Given the description of an element on the screen output the (x, y) to click on. 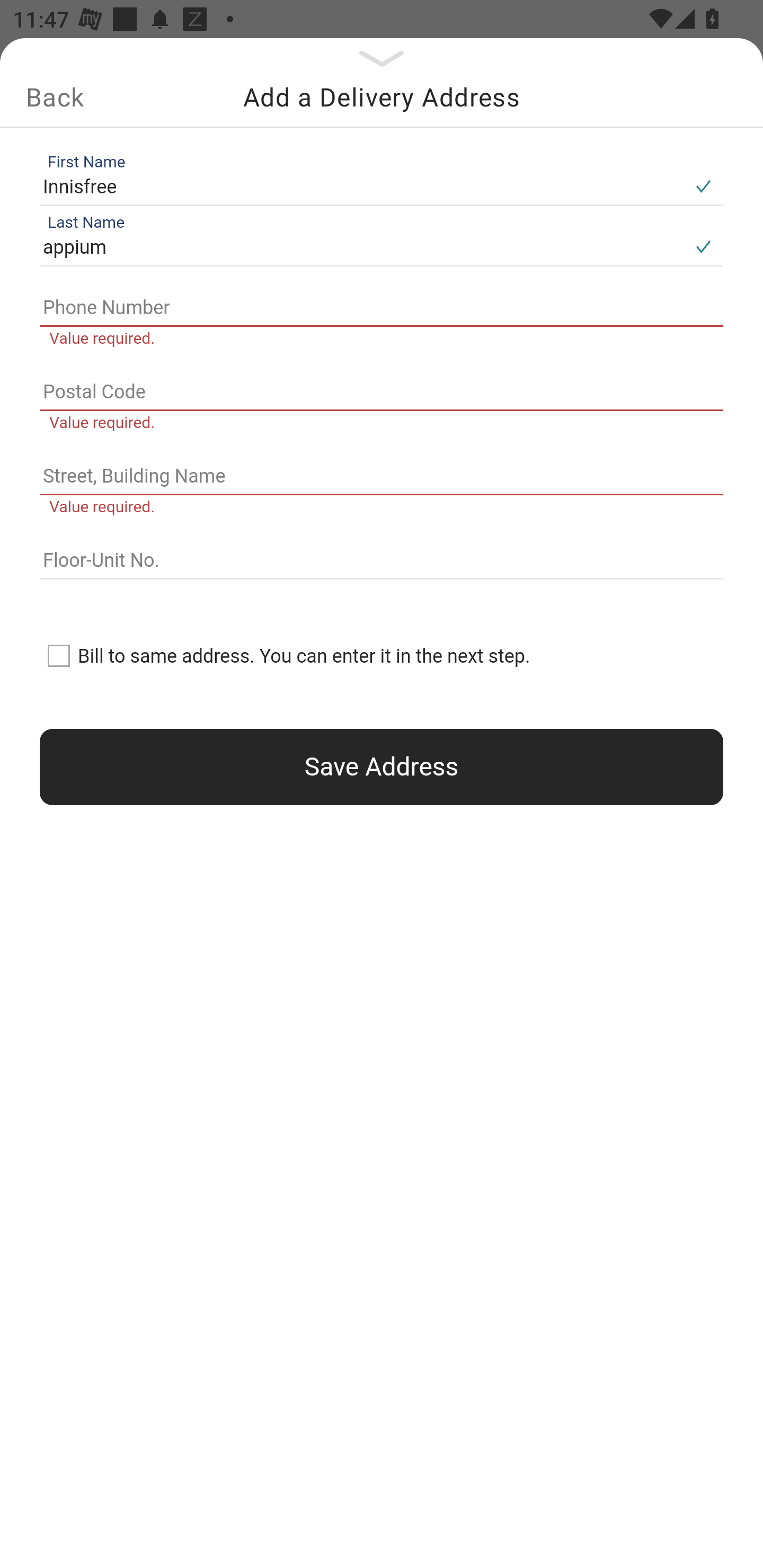
Back (54, 96)
Add a Delivery Address (381, 96)
Innisfree (361, 186)
appium (361, 247)
Save Address (381, 767)
